Given the description of an element on the screen output the (x, y) to click on. 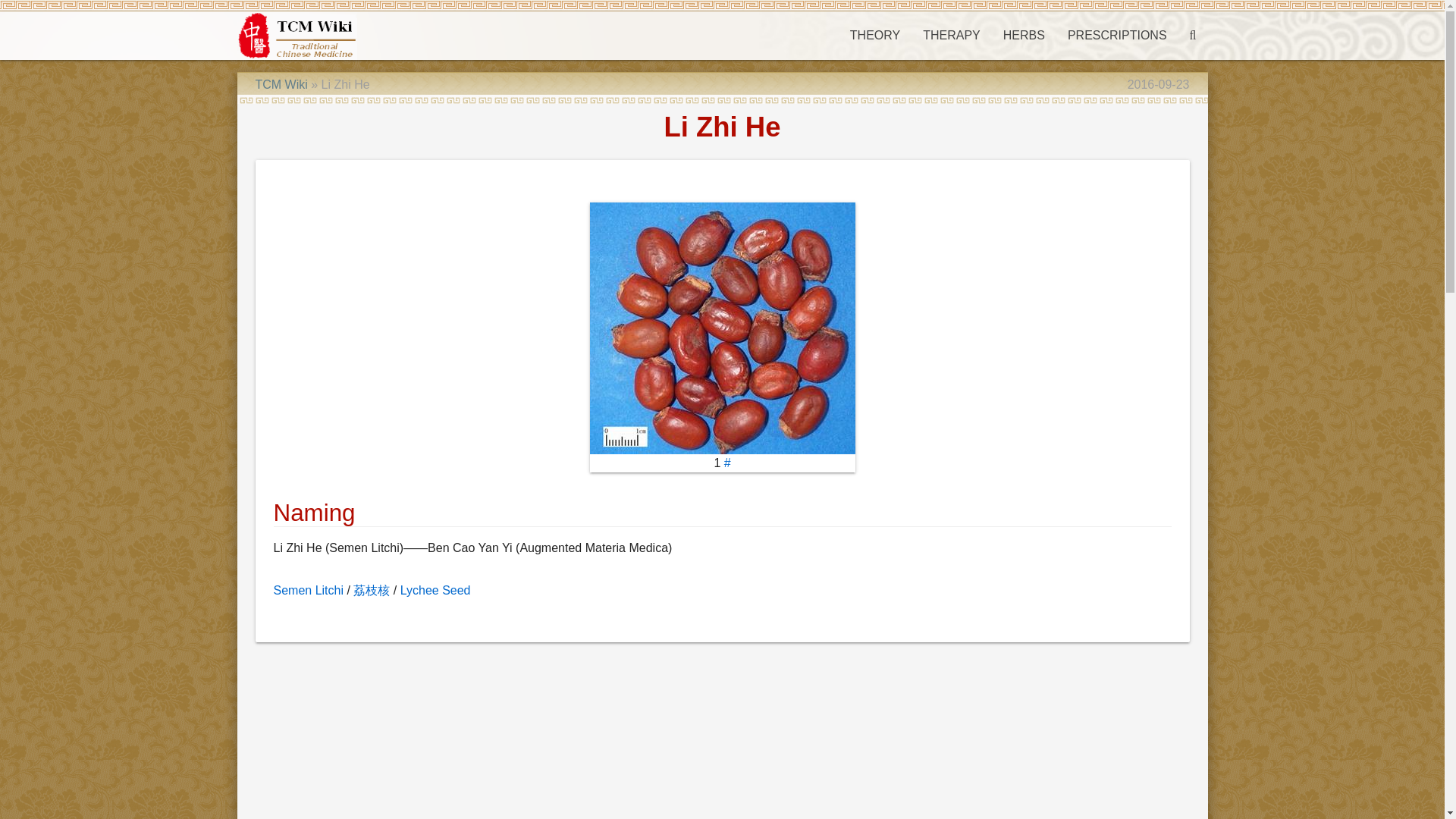
THEORY (874, 35)
PRESCRIPTIONS (1117, 35)
Lychee Seed (435, 590)
TCM Wiki (280, 83)
HERBS (1024, 35)
THERAPY (951, 35)
Semen Litchi (308, 590)
